Given the description of an element on the screen output the (x, y) to click on. 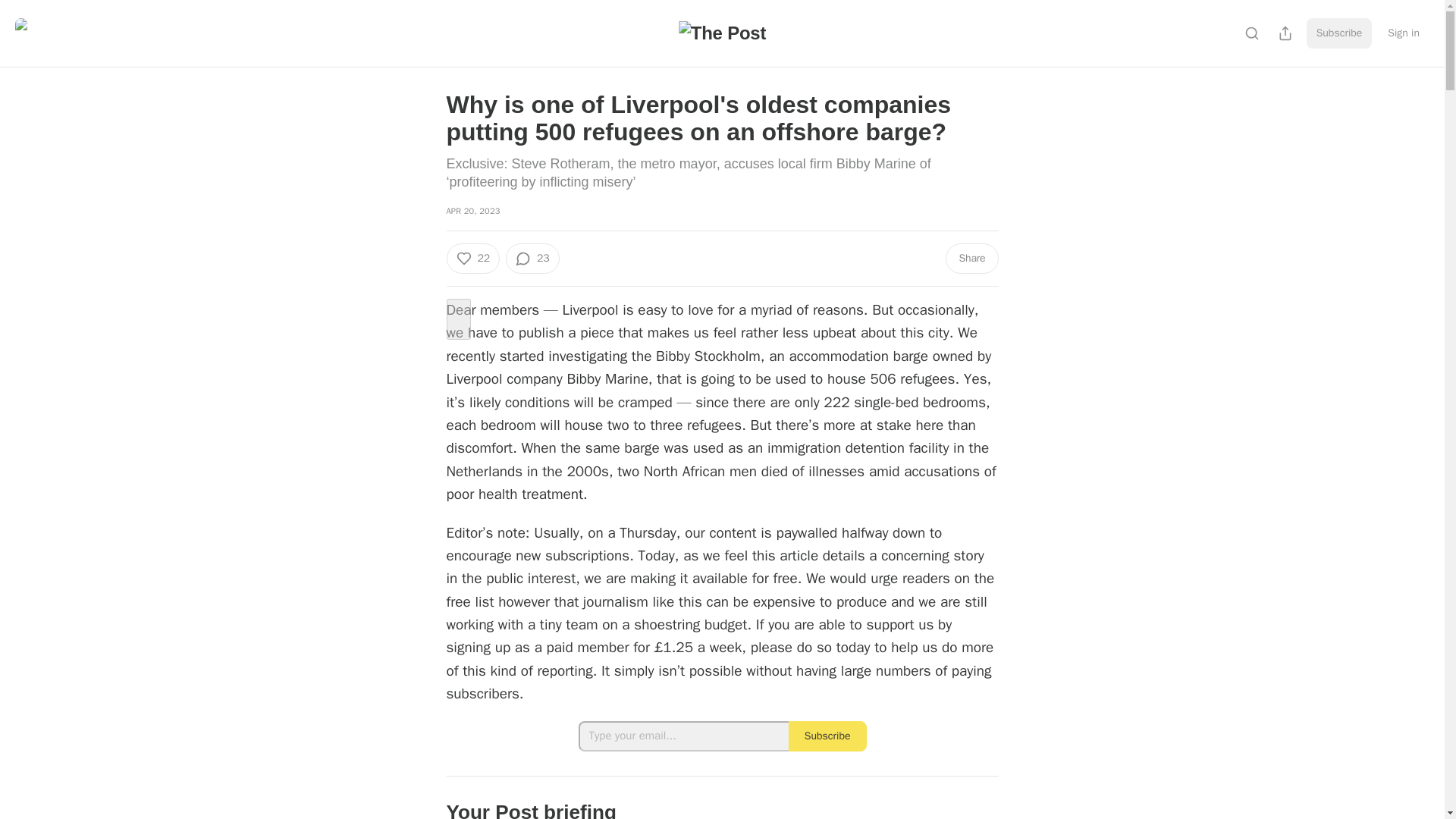
Subscribe (1339, 33)
23 (532, 258)
Share (970, 258)
22 (472, 258)
Sign in (1403, 33)
Subscribe (827, 736)
